Given the description of an element on the screen output the (x, y) to click on. 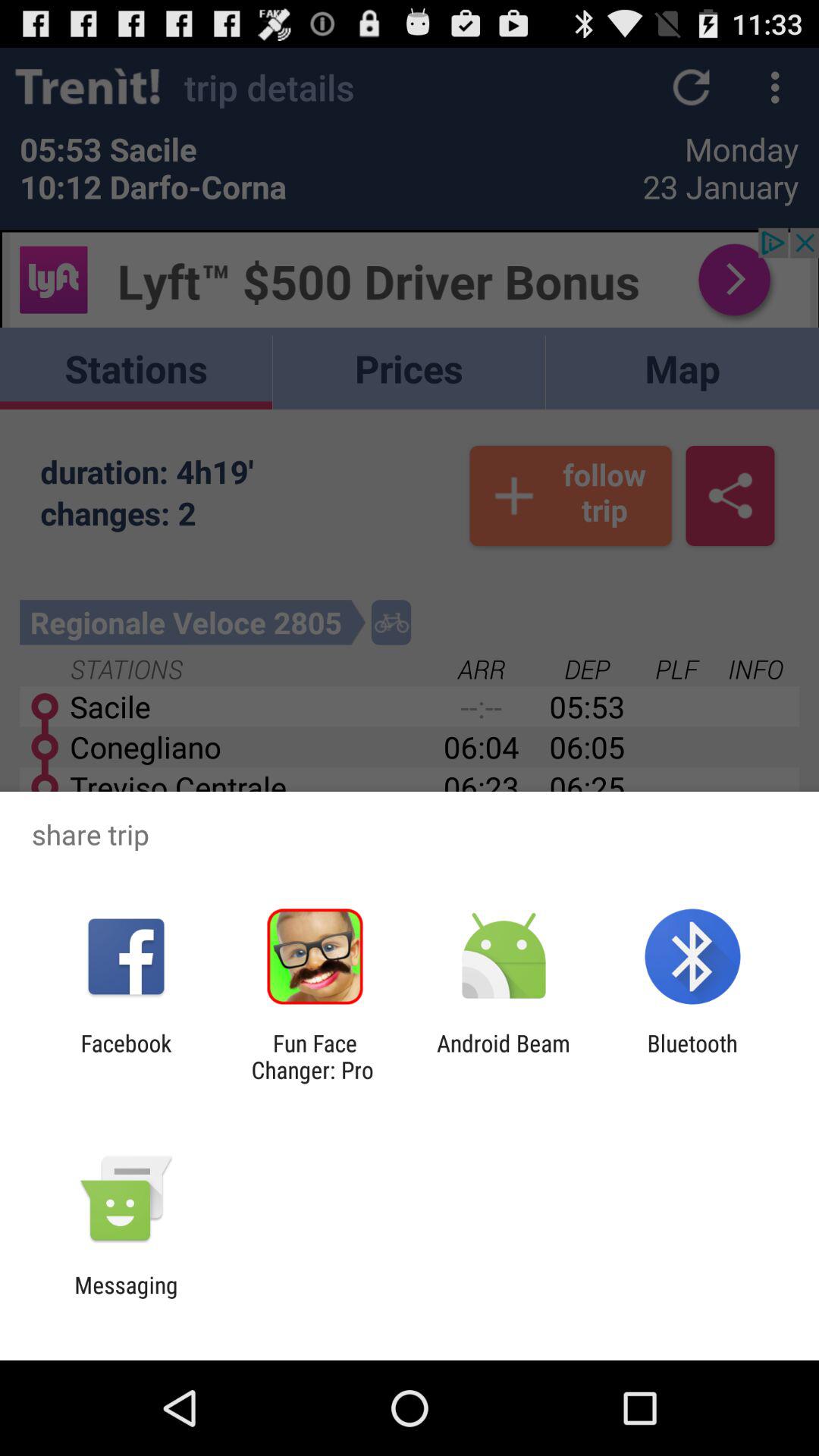
open the icon next to fun face changer (125, 1056)
